Given the description of an element on the screen output the (x, y) to click on. 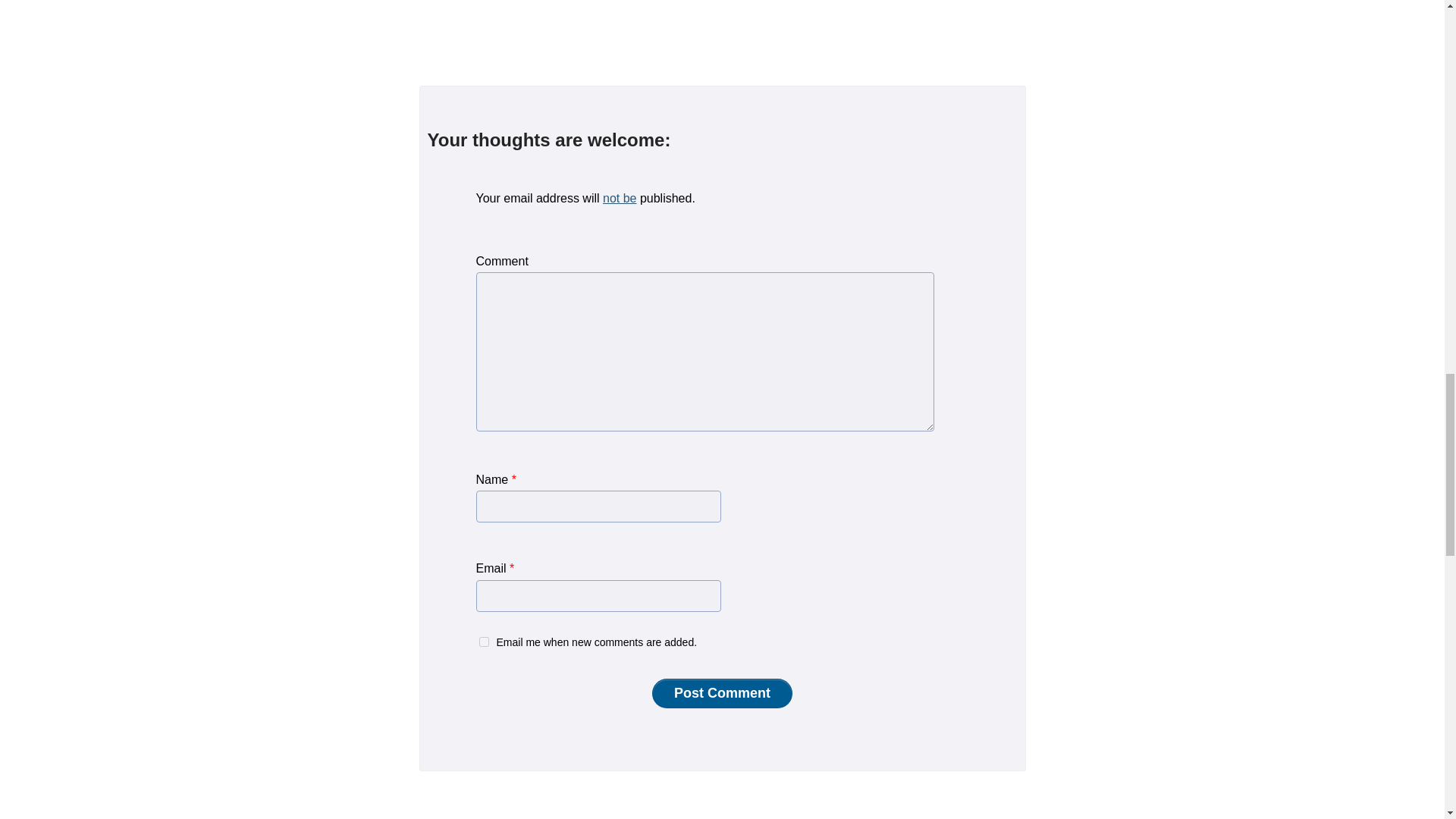
1 (484, 642)
Post Comment (722, 692)
Post Comment (722, 692)
not be (619, 197)
